Given the description of an element on the screen output the (x, y) to click on. 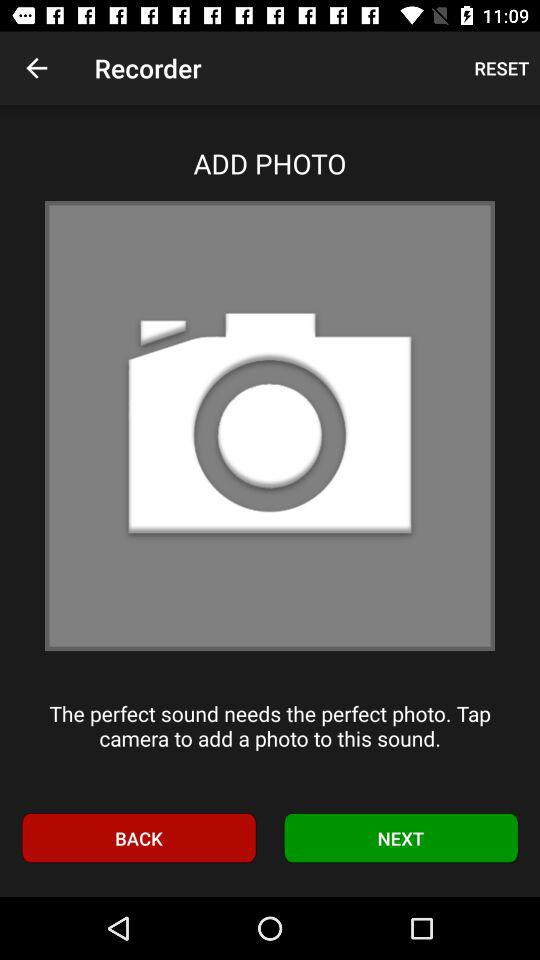
open item above add photo (36, 68)
